Given the description of an element on the screen output the (x, y) to click on. 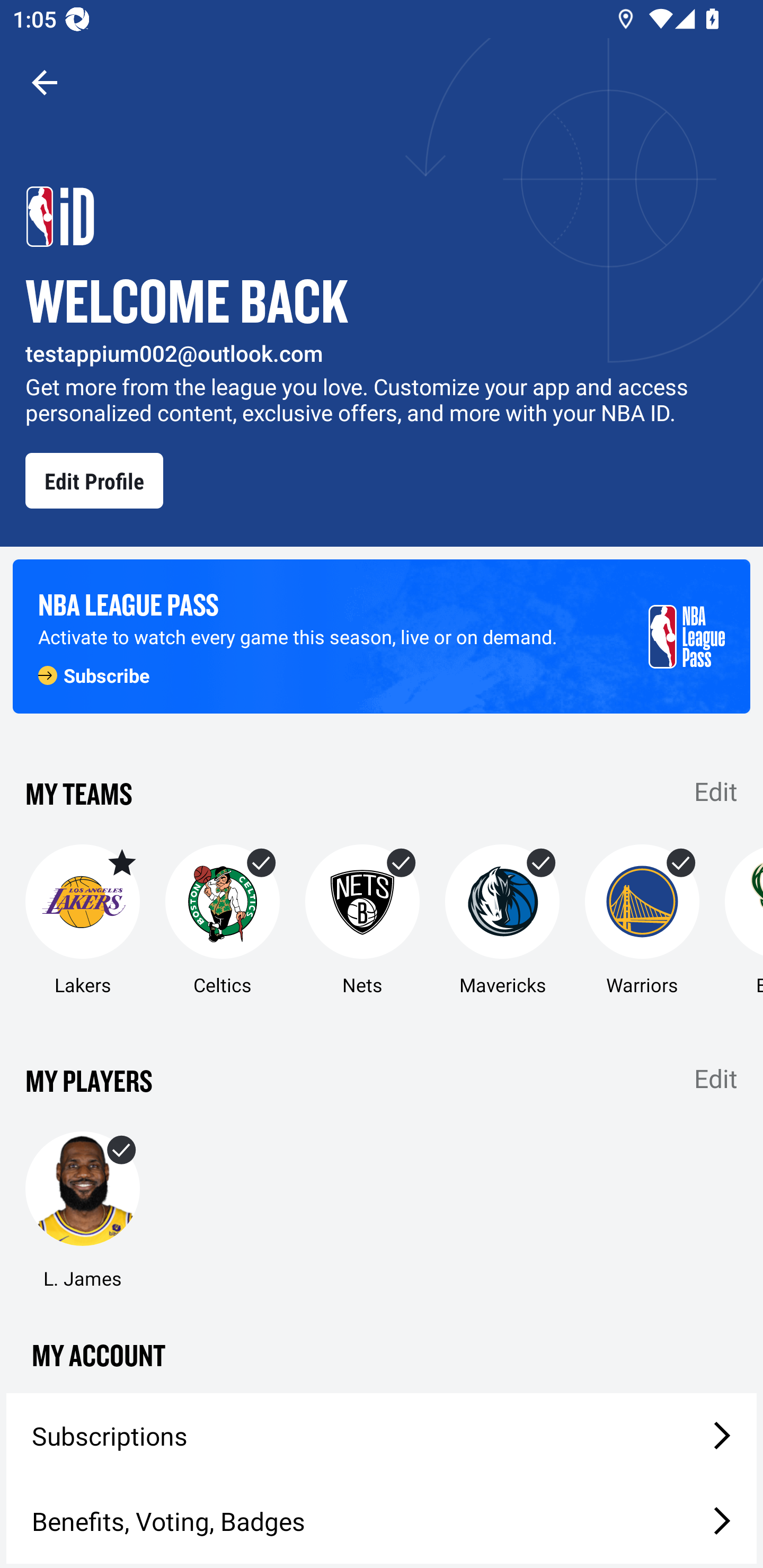
Navigate up (44, 82)
Edit Profile (94, 480)
Edit (715, 790)
Lakers (82, 921)
Celtics (222, 921)
Nets (362, 921)
Mavericks (501, 921)
Warriors (642, 921)
Edit (715, 1078)
L. James (82, 1211)
Subscriptions (381, 1435)
Benefits, Voting, Badges (381, 1520)
